Given the description of an element on the screen output the (x, y) to click on. 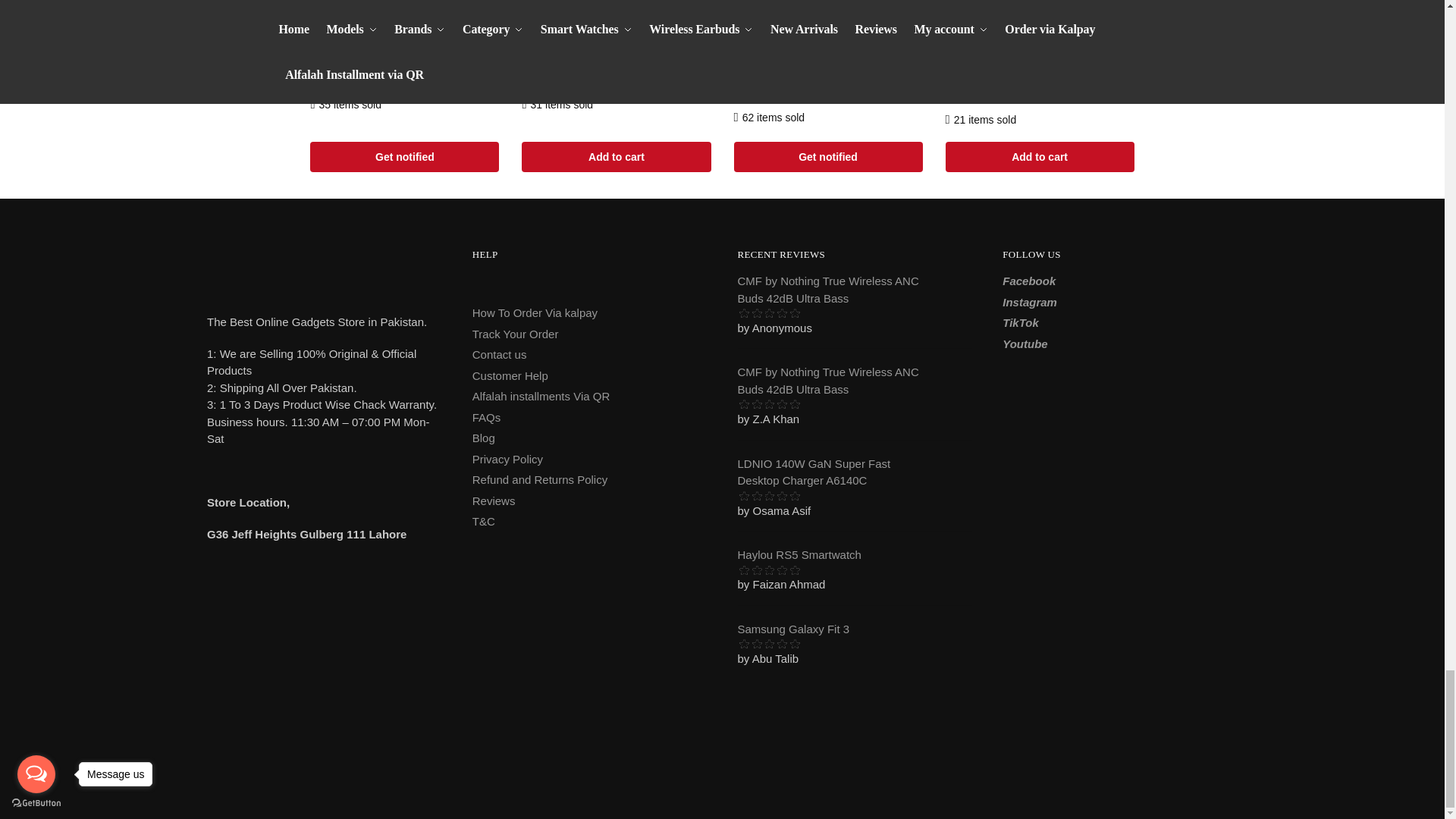
Samsung S Pen Pro (615, 21)
Samsung Galaxy Buds Pro (828, 21)
Samsung S Pen For Galaxy Note 8 (404, 21)
Samsung Galaxy Z Flip3 5G Aramid Cover Black (1039, 21)
